Given the description of an element on the screen output the (x, y) to click on. 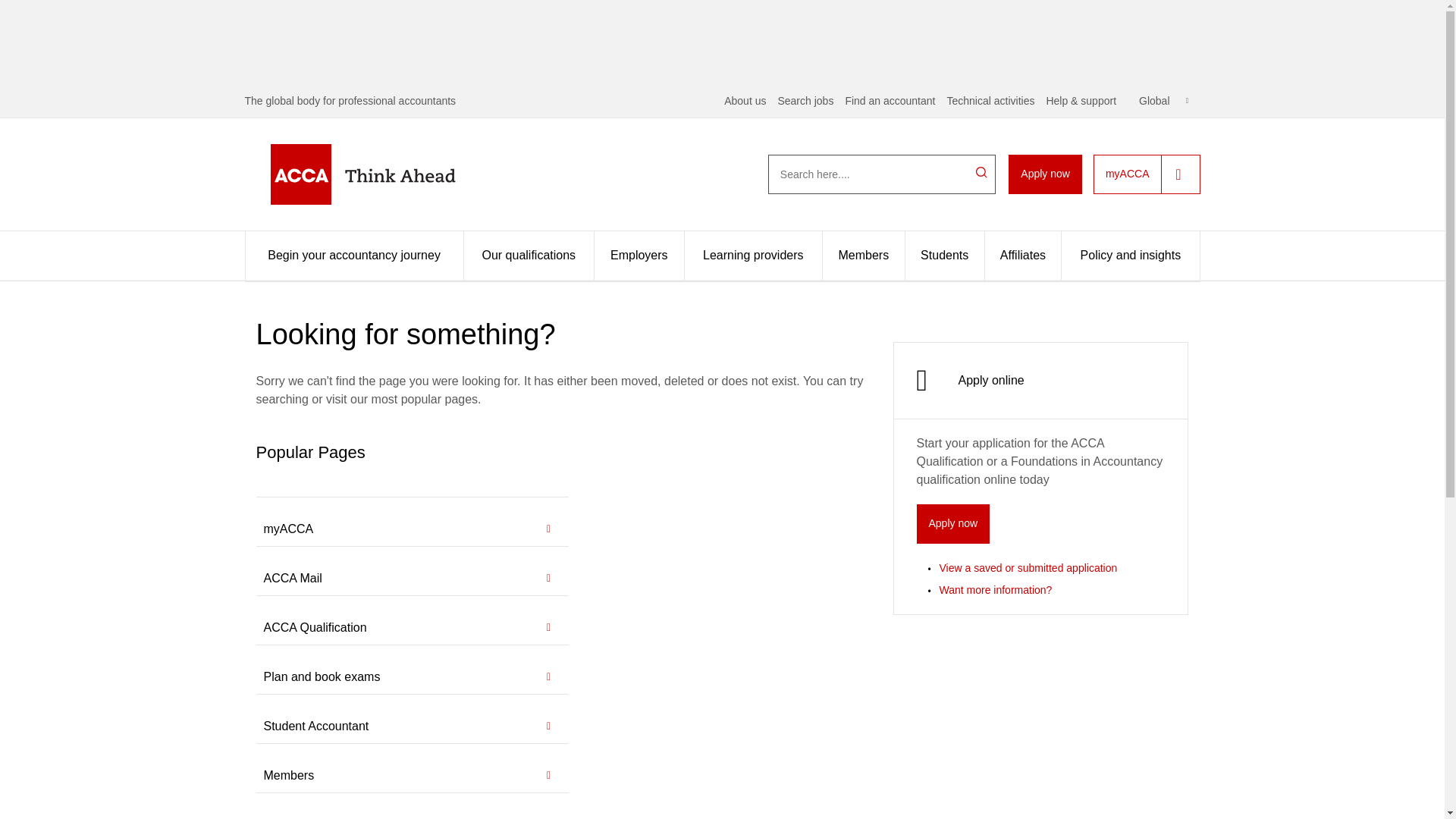
Search jobs (804, 101)
About us (744, 101)
Technical activities (989, 101)
Global (1162, 100)
Global (1162, 100)
ACCA - Think Ahead (387, 174)
View a saved or submitted application (1027, 567)
Find an accountant (889, 101)
Want more information? (995, 589)
